Given the description of an element on the screen output the (x, y) to click on. 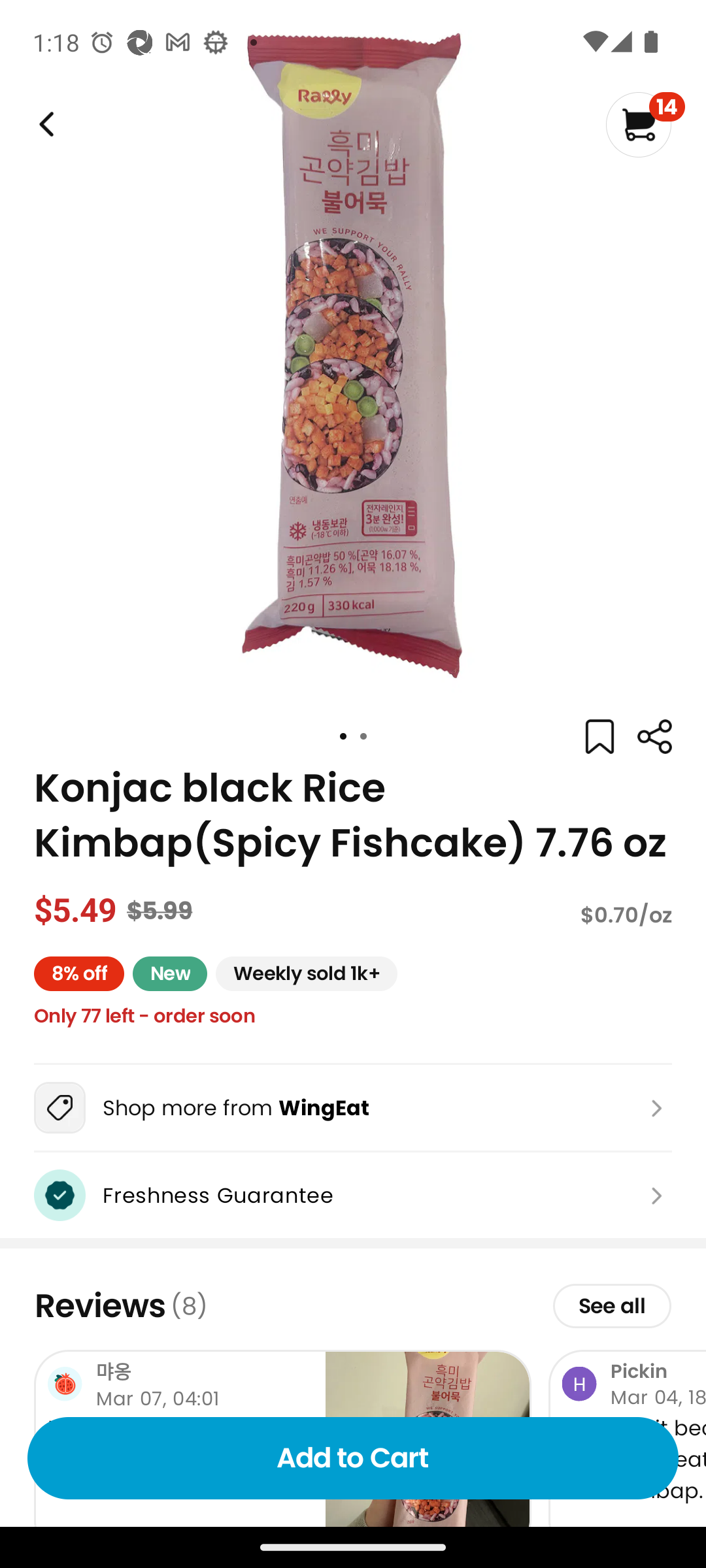
14 (644, 124)
Weee! (45, 124)
Weee! (653, 736)
Shop more from WingEat Weee! (352, 1107)
Freshness Guarantee (352, 1195)
Reviews (8) See all (353, 1305)
Add to Cart (352, 1458)
